Given the description of an element on the screen output the (x, y) to click on. 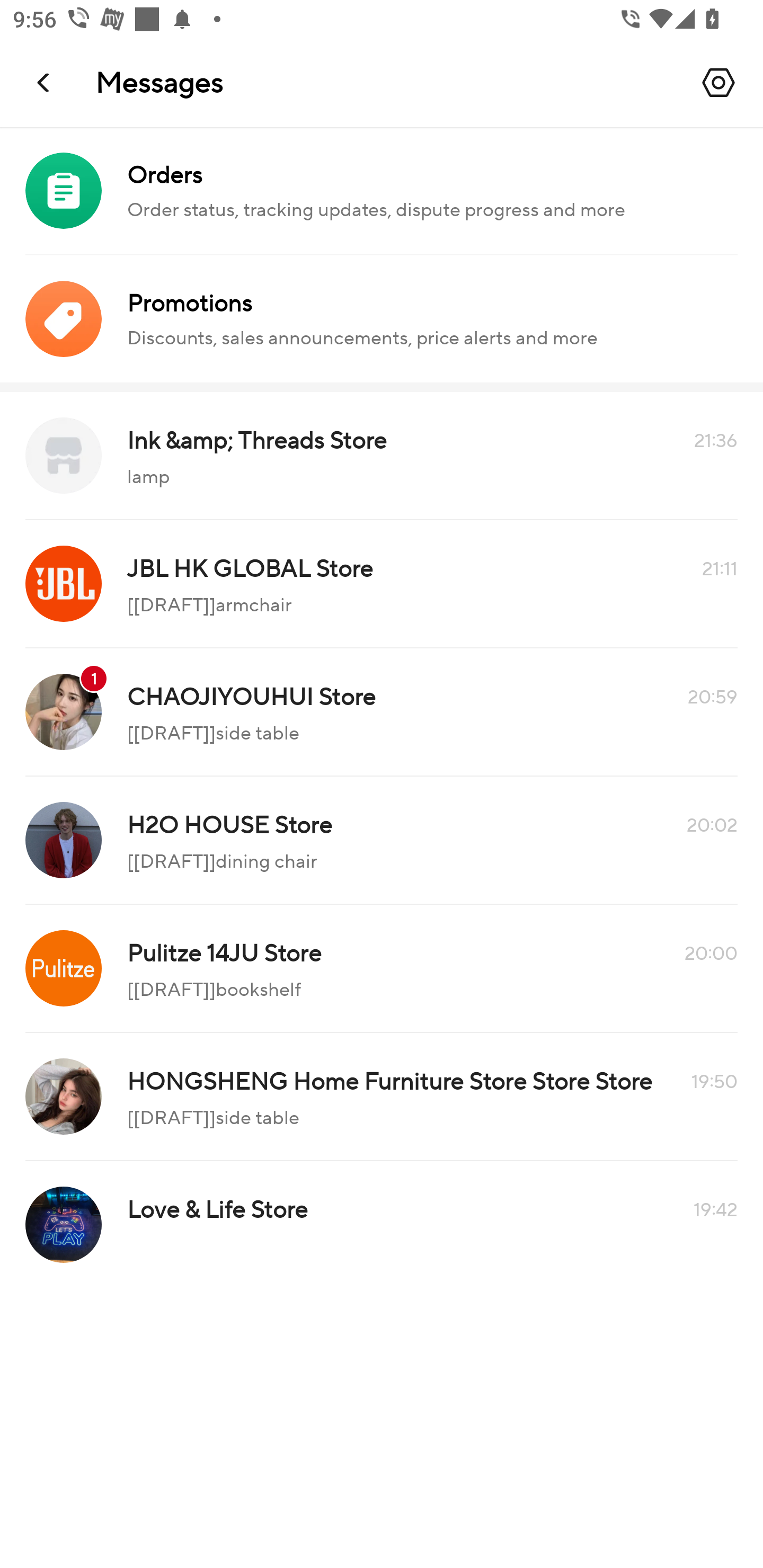
Navigate up (44, 82)
